Given the description of an element on the screen output the (x, y) to click on. 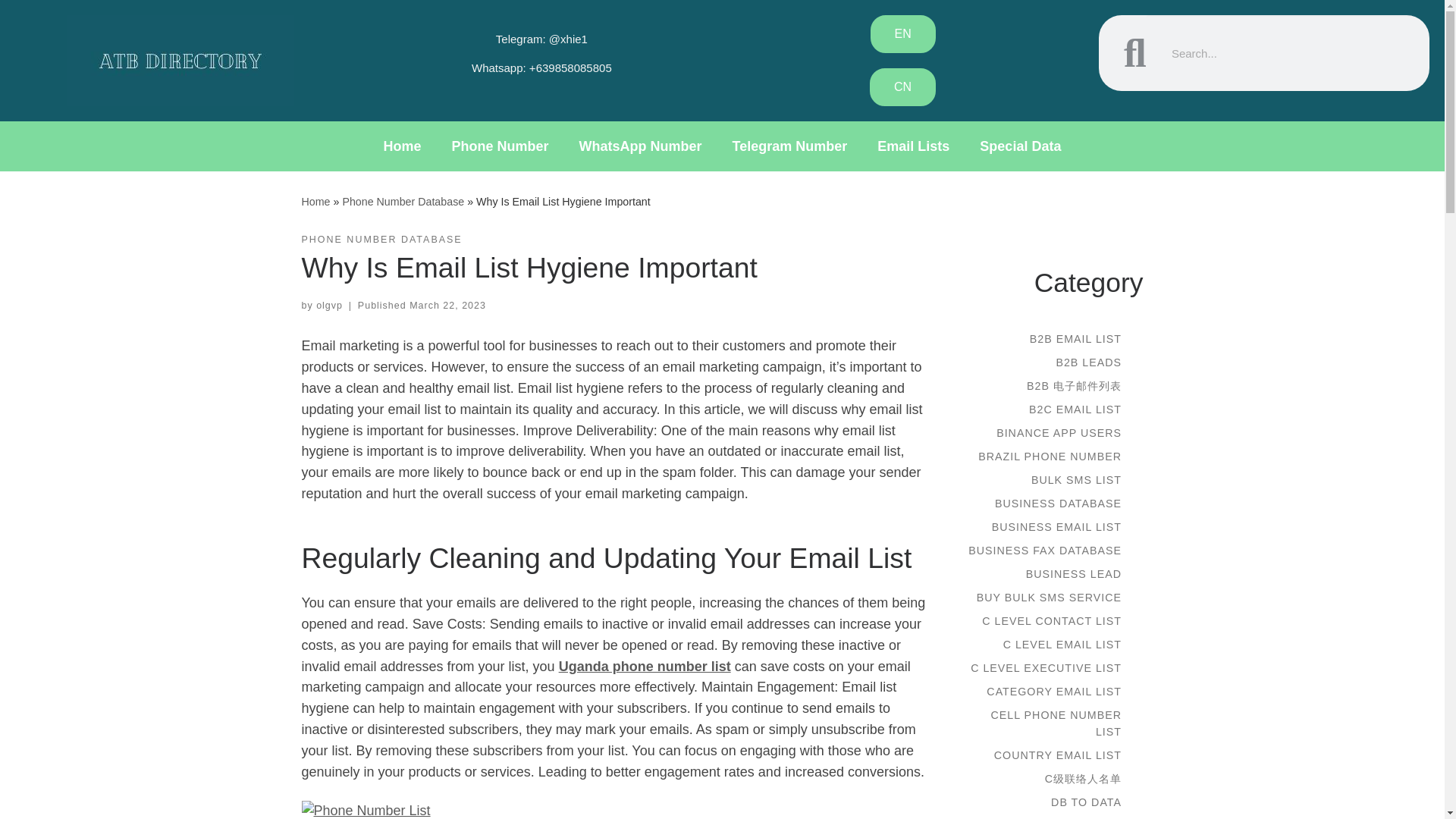
ATB Directory (315, 201)
March 22, 2023 (447, 305)
Home (402, 145)
View all posts by olgvp (328, 305)
WhatsApp Number (640, 145)
View all posts in Phone Number Database (382, 239)
CN (902, 86)
Phone Number (500, 145)
PHONE NUMBER DATABASE (382, 239)
Uganda phone number list (644, 666)
Telegram Number (790, 145)
Home (315, 201)
Email Lists (912, 145)
olgvp (328, 305)
5:30 am (447, 305)
